Given the description of an element on the screen output the (x, y) to click on. 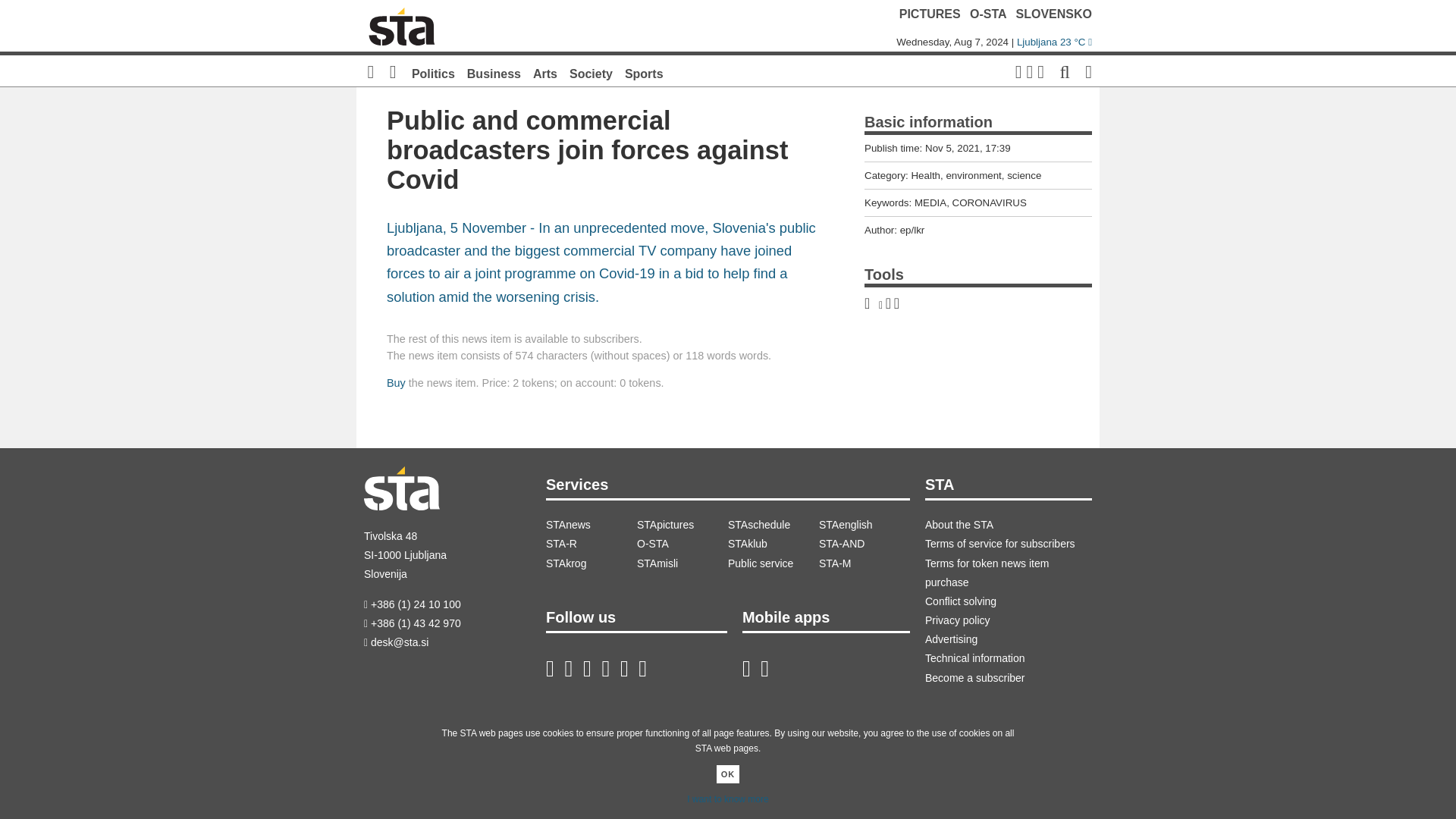
O-STA (987, 13)
STAschedule (773, 524)
Public service (773, 563)
Arts (544, 73)
STA-R (591, 543)
STAmisli (682, 563)
STA-AND (864, 543)
STAnews (591, 524)
Sports (643, 73)
O-STA (682, 543)
PICTURES (929, 13)
SLOVENSKO (1054, 13)
STAkrog (591, 563)
STAenglish (864, 524)
Politics (433, 73)
